Given the description of an element on the screen output the (x, y) to click on. 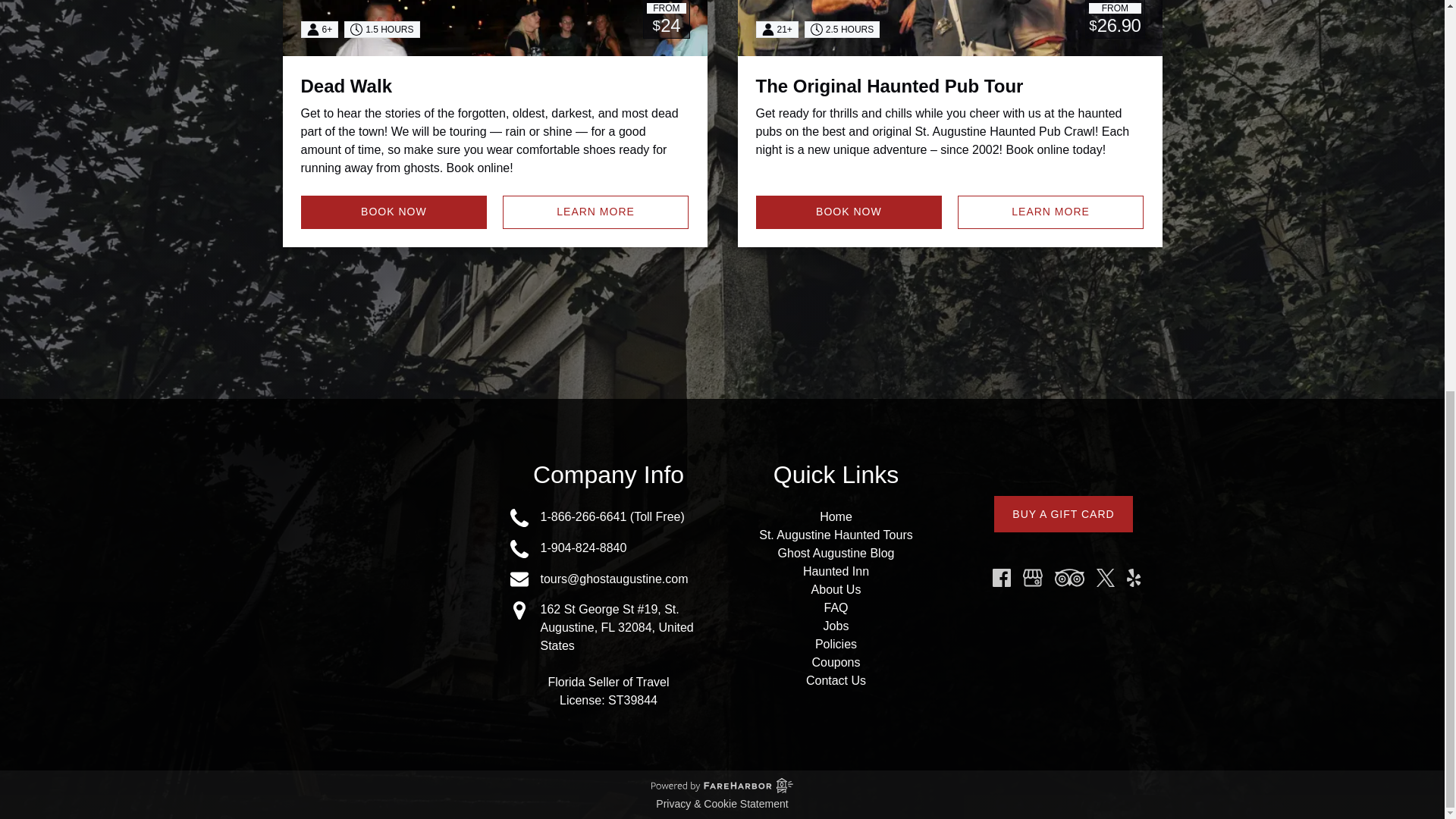
Dead Walk (345, 86)
LEARN MORE (595, 212)
Envelope (518, 579)
BOOK NOW (392, 212)
FareHarbor (1342, 136)
Phone (518, 548)
Map Marker (518, 610)
Phone (518, 517)
